Given the description of an element on the screen output the (x, y) to click on. 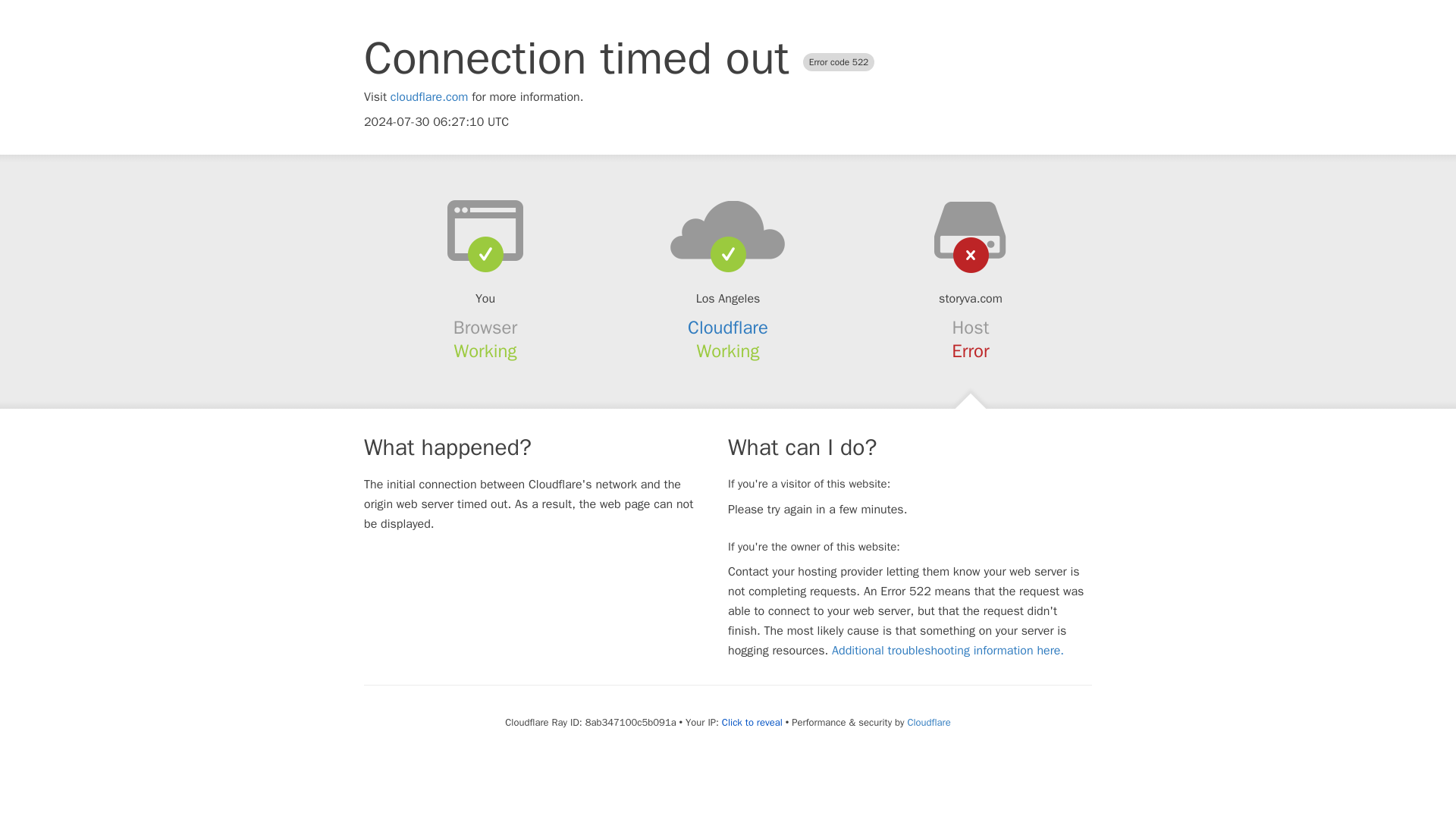
Additional troubleshooting information here. (947, 650)
Cloudflare (928, 721)
Cloudflare (727, 327)
cloudflare.com (429, 96)
Click to reveal (752, 722)
